Given the description of an element on the screen output the (x, y) to click on. 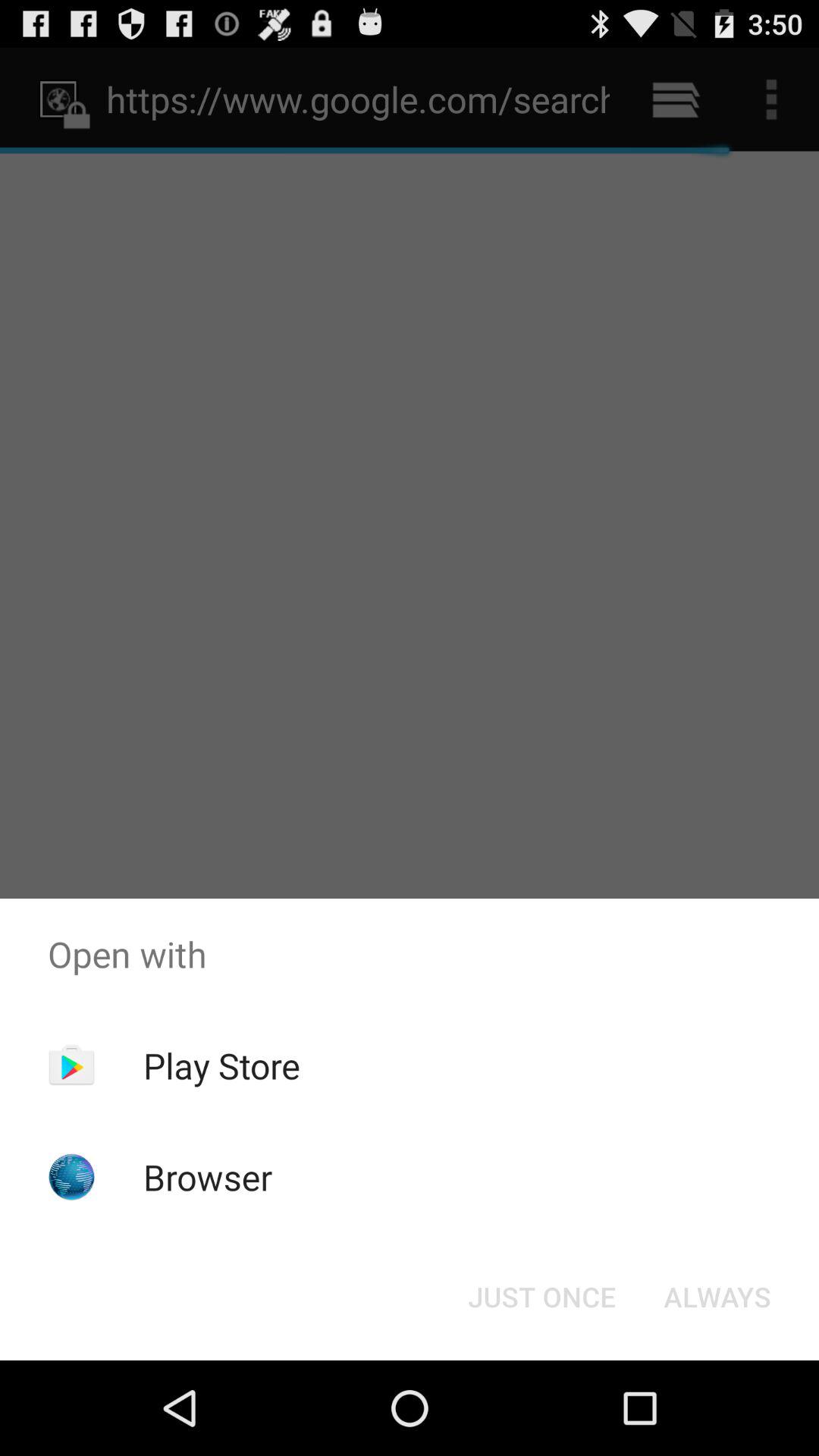
flip until the always button (717, 1296)
